Given the description of an element on the screen output the (x, y) to click on. 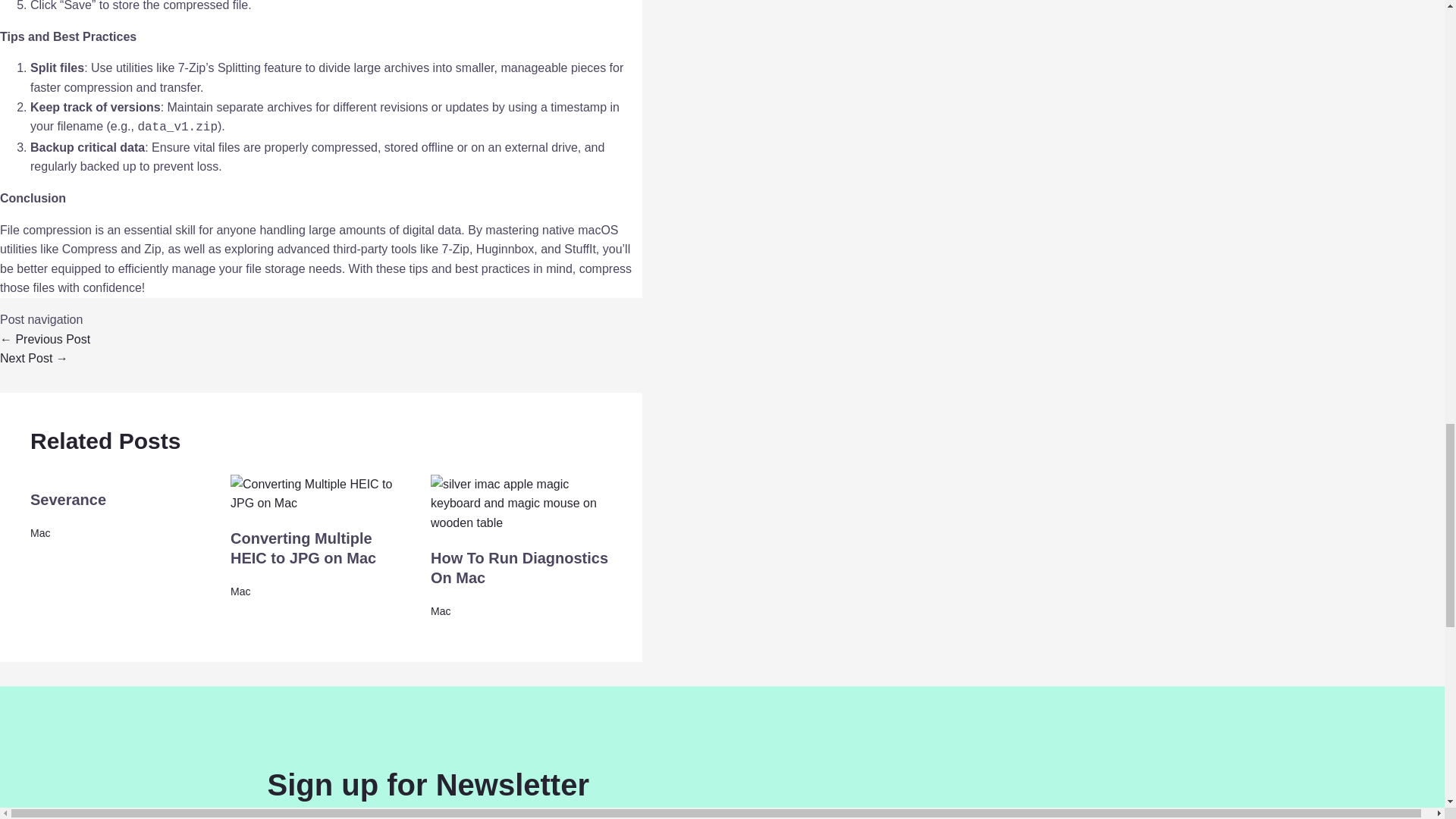
How To Clean A Grill (34, 358)
Mac (439, 611)
Converting Multiple HEIC to JPG on Mac (302, 547)
Mac (39, 532)
Mac (240, 591)
How To Run Diagnostics On Mac (519, 567)
How To Turn Off SharePlay (45, 338)
Severance (68, 499)
